Given the description of an element on the screen output the (x, y) to click on. 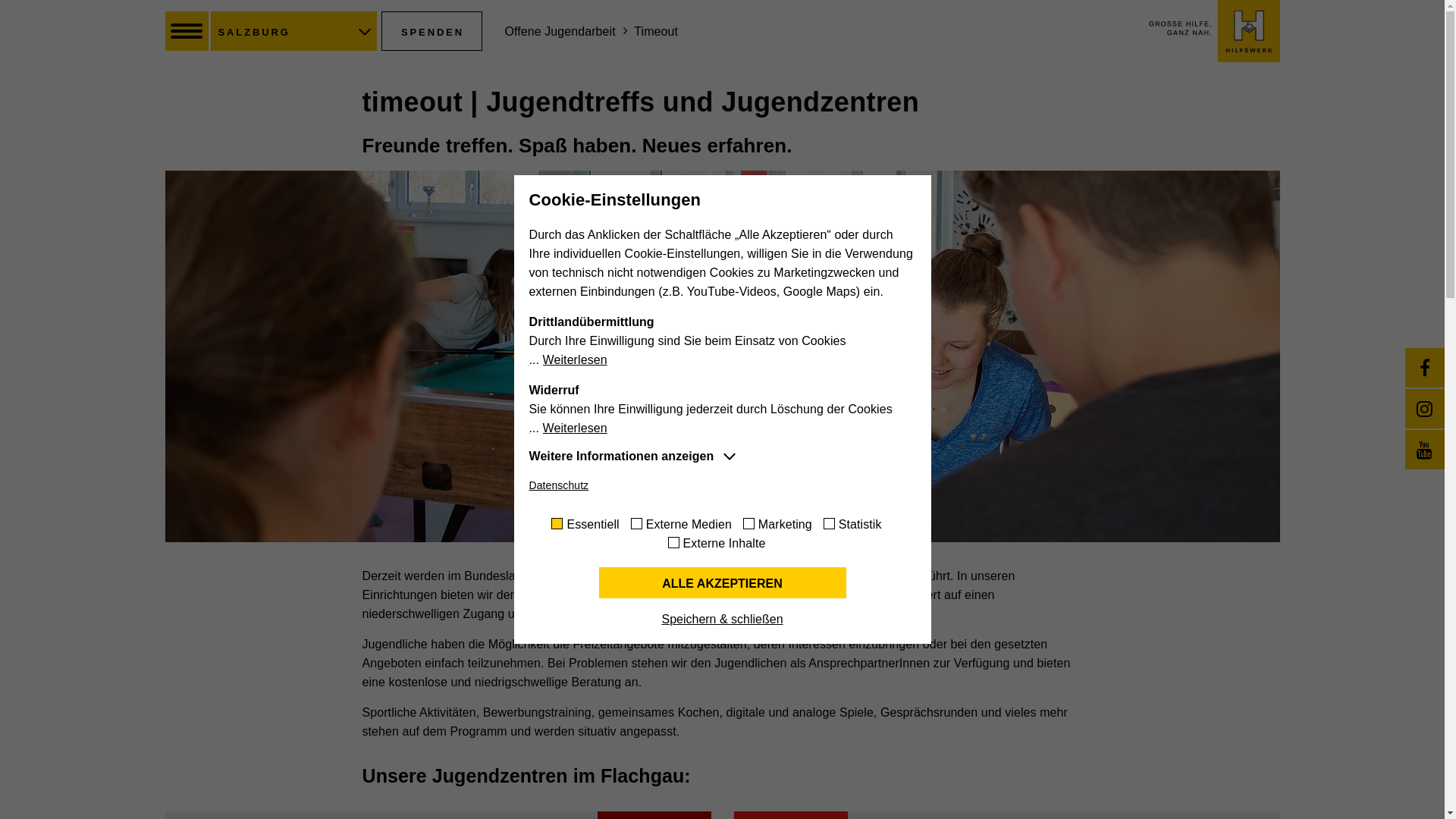
Datenschutz Element type: text (559, 485)
Folgen Sie uns auf Instagram Element type: hover (1424, 408)
Folgen Sie uns auf Facebook Element type: hover (1424, 367)
SPENDEN Element type: text (430, 30)
Folgen Sie uns auf You Tube Element type: hover (1424, 449)
Weitere Informationen anzeigen Element type: text (633, 455)
ALLE AKZEPTIEREN Element type: text (722, 582)
Offene Jugendarbeit Element type: text (560, 31)
